Given the description of an element on the screen output the (x, y) to click on. 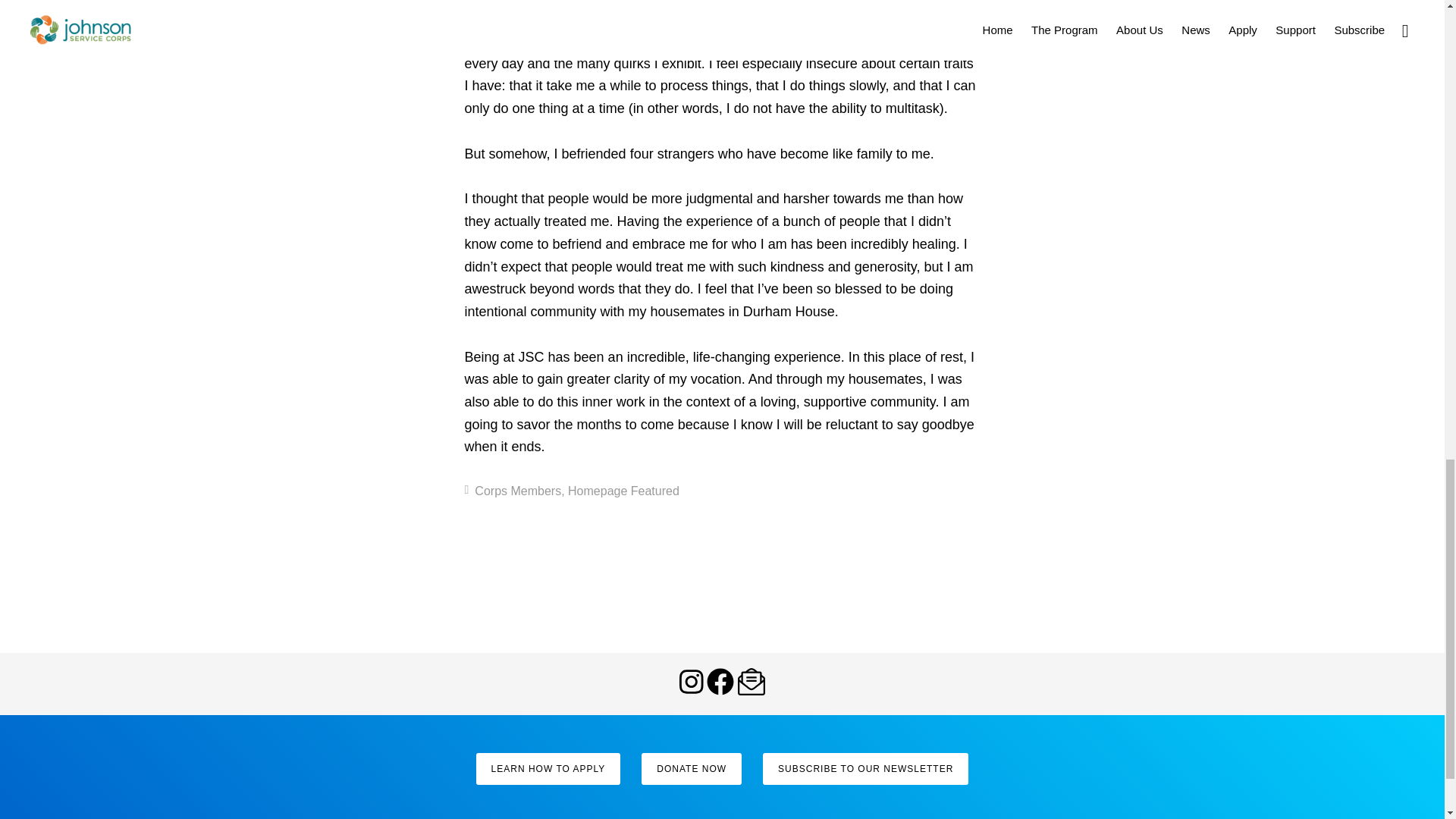
DONATE NOW (691, 768)
Corps Members (517, 490)
Homepage Featured (623, 490)
SUBSCRIBE TO OUR NEWSLETTER (865, 768)
LEARN HOW TO APPLY (548, 768)
